Given the description of an element on the screen output the (x, y) to click on. 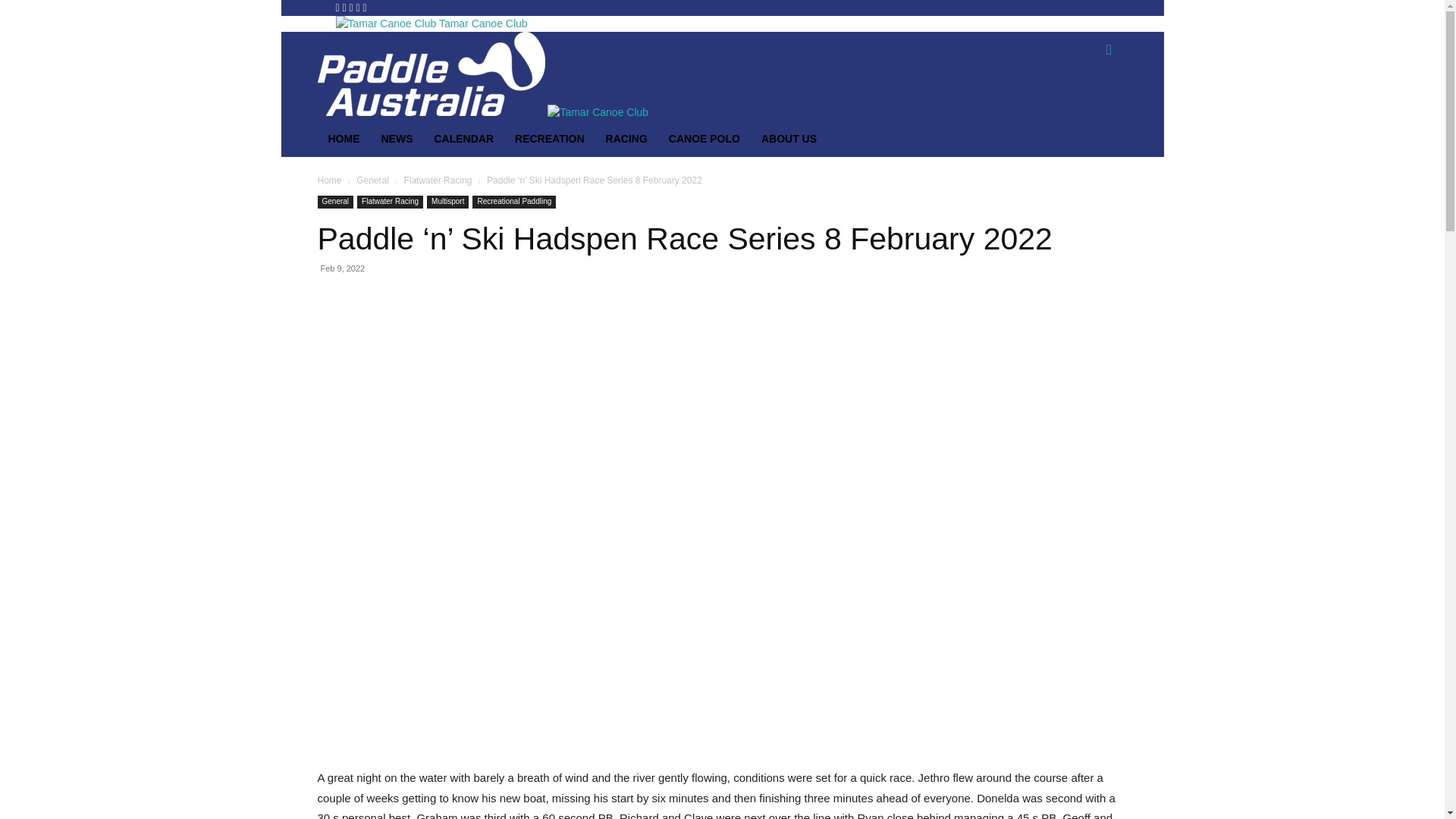
Flatwater Racing Element type: text (390, 201)
Twitter Element type: hover (359, 7)
Flatwater Racing Element type: text (437, 180)
Paddling Northern Tasmania Element type: hover (385, 23)
Paddling Northern Tasmania Element type: hover (597, 112)
Youtube Element type: hover (365, 7)
Multisport Element type: text (447, 201)
RECREATION Element type: text (549, 138)
Paddling Northern Tasmania Element type: hover (430, 73)
HOME Element type: text (343, 138)
RACING Element type: text (626, 138)
General Element type: text (334, 201)
Recreational Paddling Element type: text (513, 201)
Linkedin Element type: hover (352, 7)
ABOUT US Element type: text (788, 138)
Home Element type: text (328, 180)
Instagram Element type: hover (345, 7)
Facebook Element type: hover (338, 7)
Search Element type: text (1084, 110)
Tamar Canoe Club Element type: text (431, 23)
General Element type: text (372, 180)
CANOE POLO Element type: text (704, 138)
NEWS Element type: text (396, 138)
CALENDAR Element type: text (463, 138)
